Given the description of an element on the screen output the (x, y) to click on. 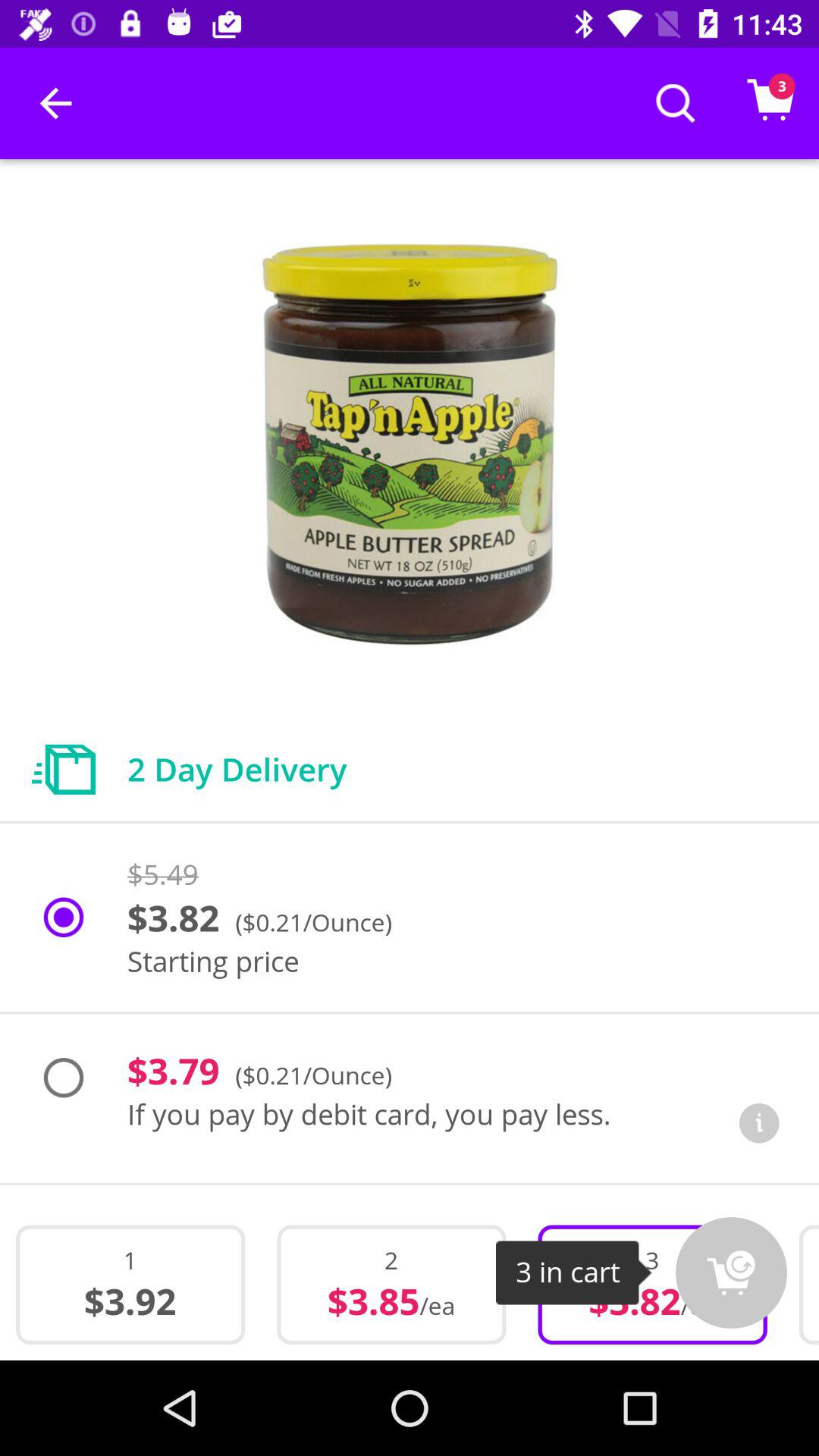
tap item at the top left corner (55, 103)
